Given the description of an element on the screen output the (x, y) to click on. 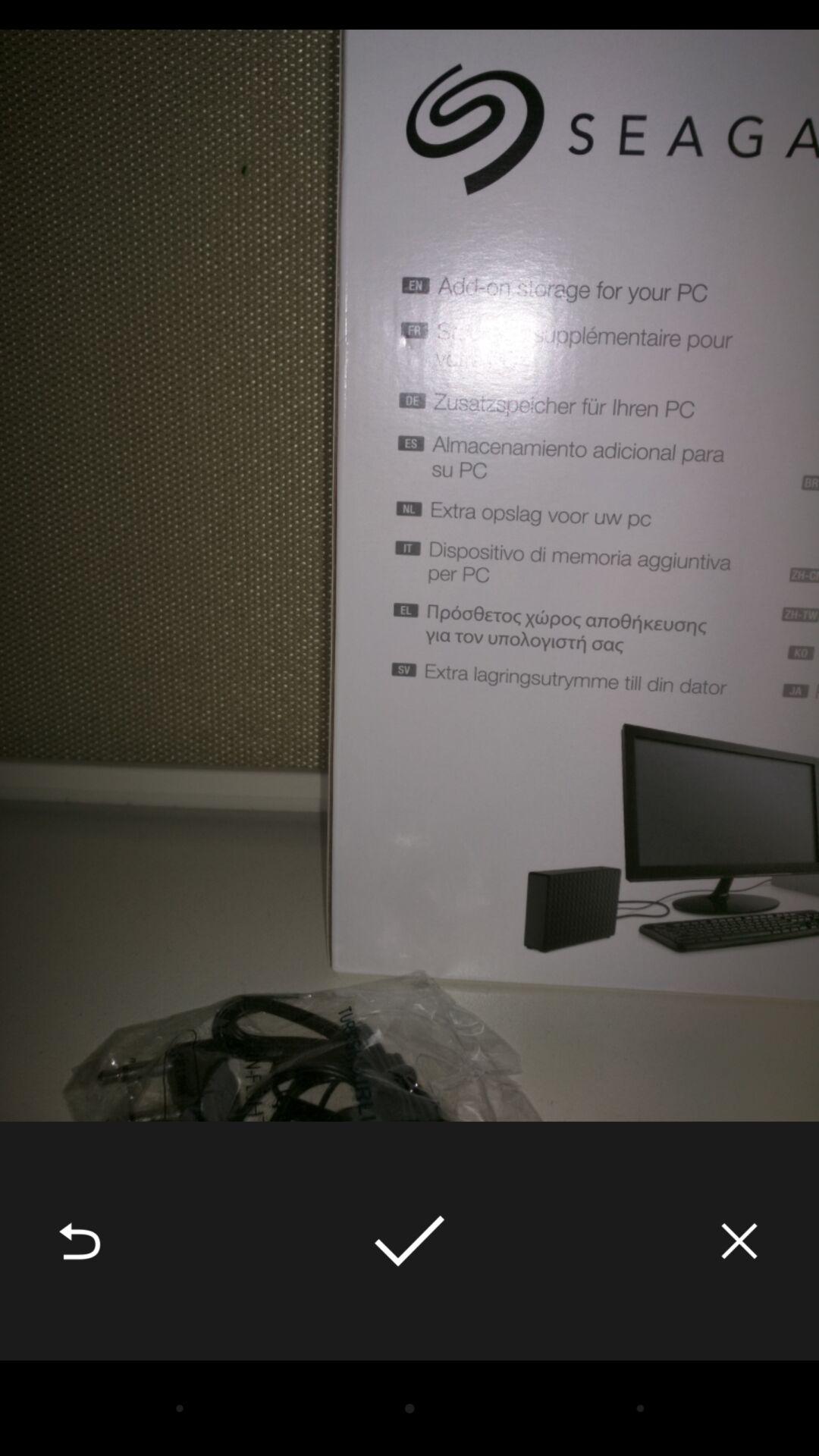
turn on icon at the bottom right corner (739, 1240)
